Given the description of an element on the screen output the (x, y) to click on. 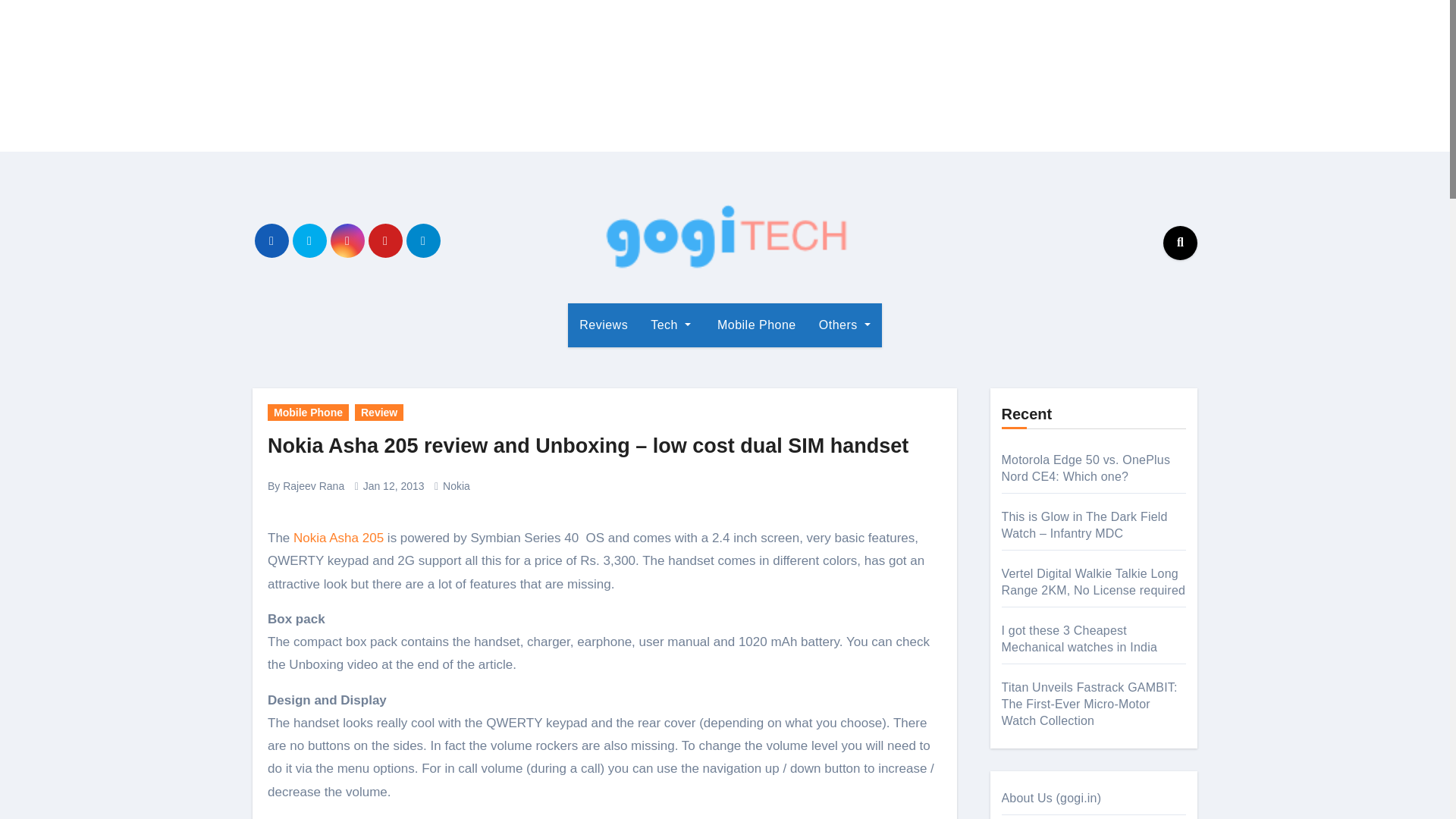
Others (845, 325)
Mobile Phone Section (754, 325)
 Mobile Phone (754, 325)
Reviews (603, 325)
Tech (670, 325)
Tech (670, 325)
Reviews (603, 325)
Nokia 205 and Nokia 206 dual SIM with hot swap (339, 537)
Others (845, 325)
